Given the description of an element on the screen output the (x, y) to click on. 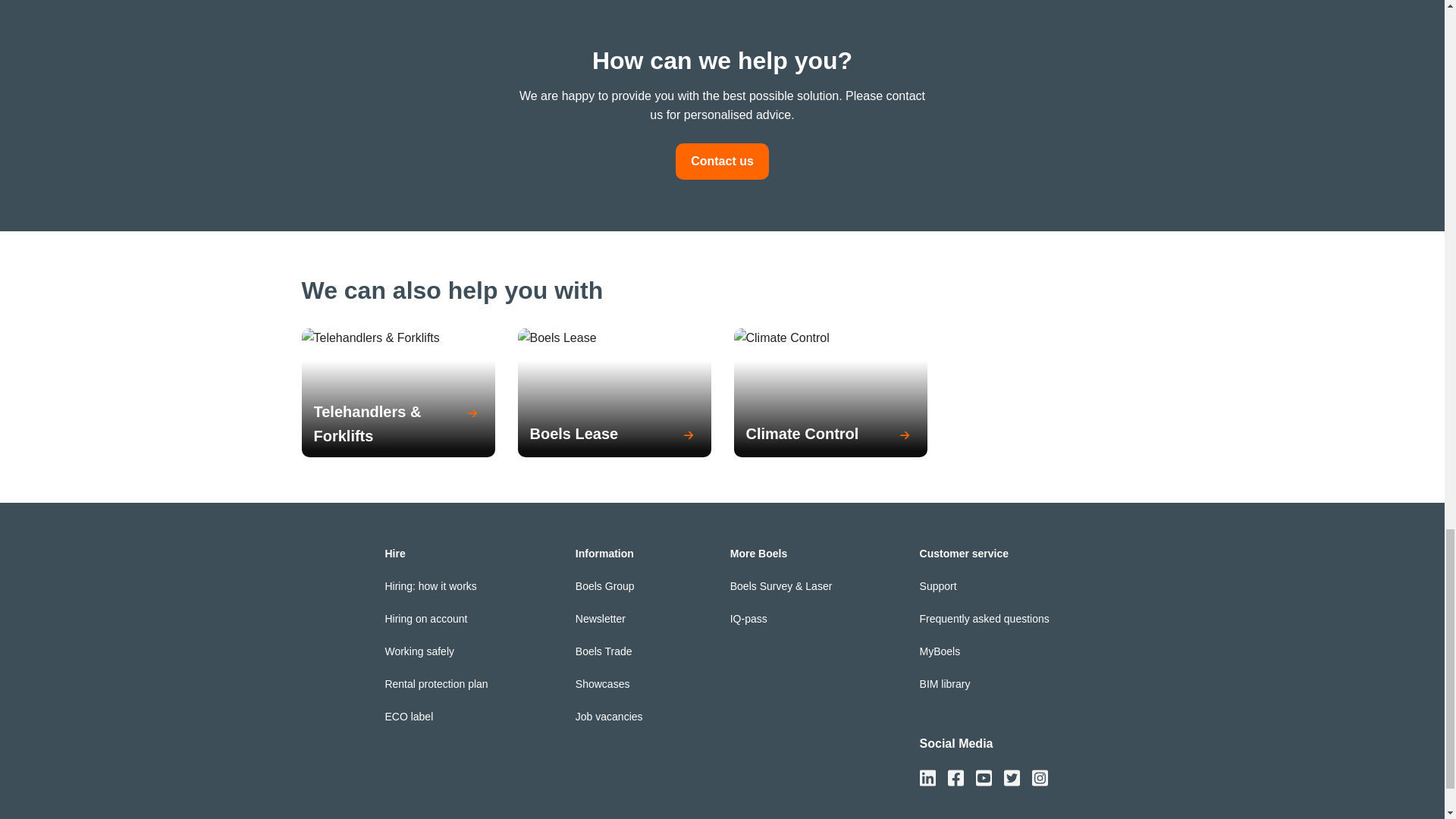
Climate Control (830, 434)
Working safely (419, 651)
Contact us (721, 161)
Hiring: how it works (430, 585)
Boels Lease (613, 434)
Hiring on account (425, 618)
